Given the description of an element on the screen output the (x, y) to click on. 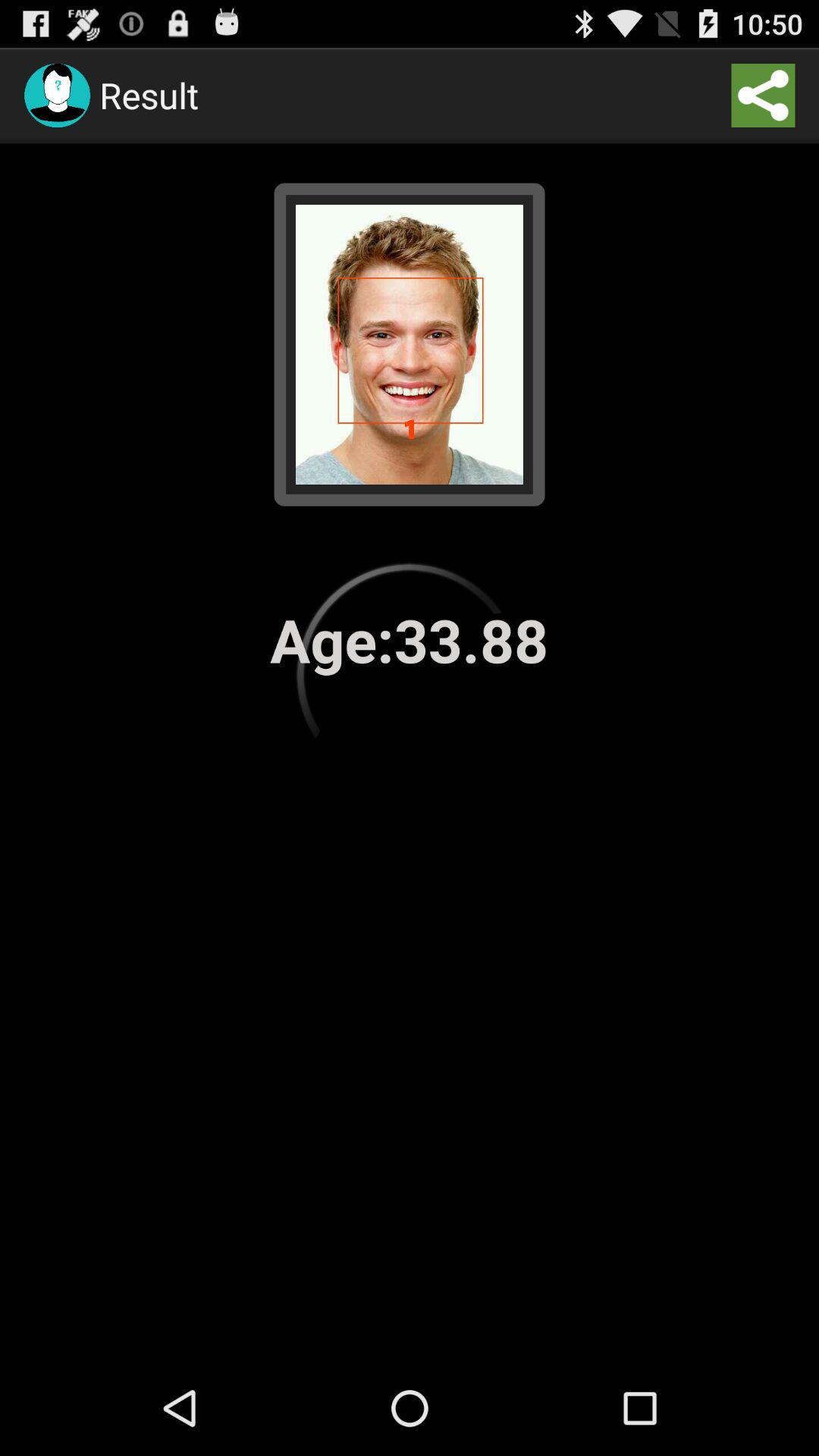
turn off icon at the top right corner (763, 95)
